Given the description of an element on the screen output the (x, y) to click on. 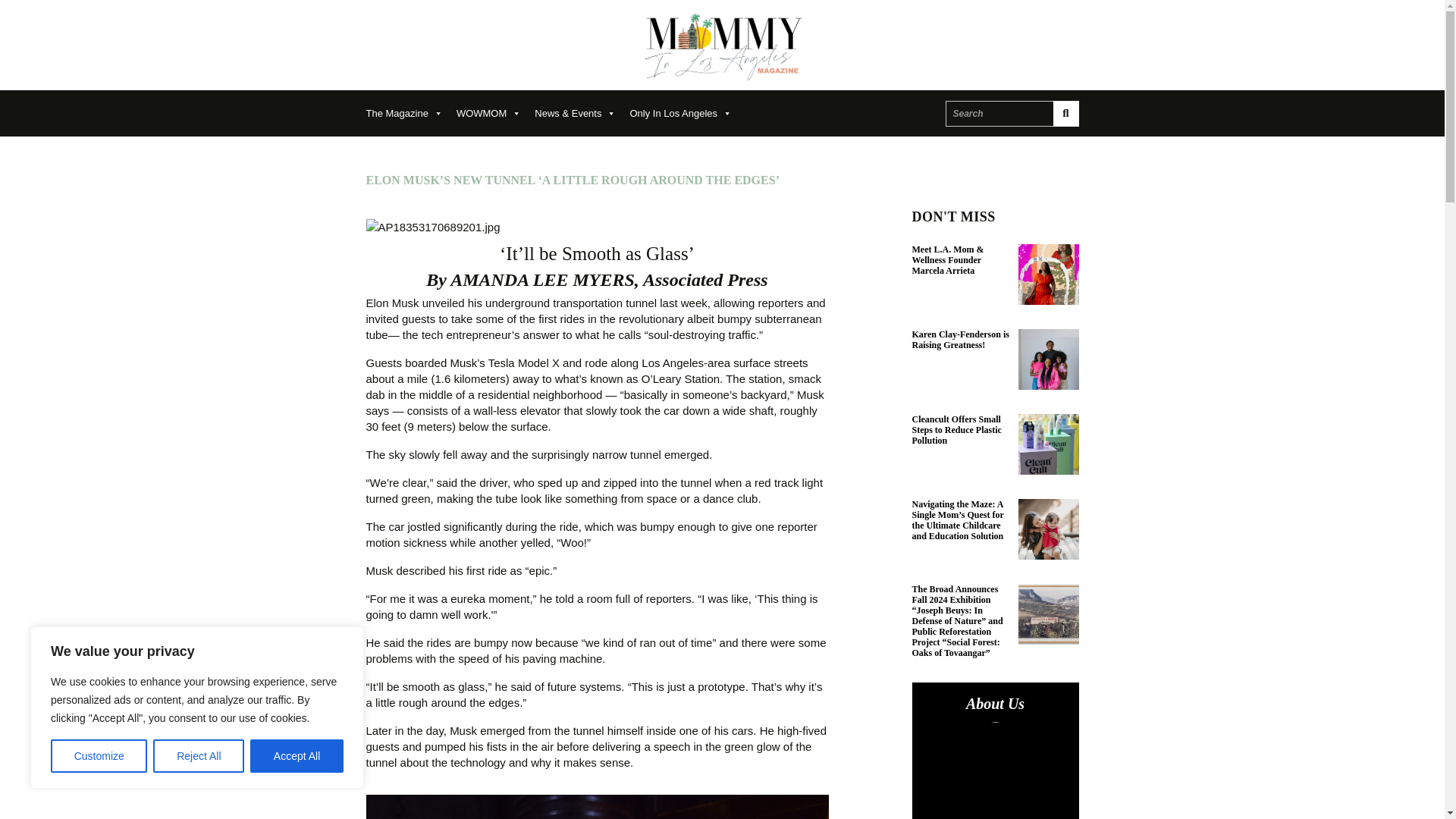
The Magazine (410, 113)
Only In Los Angeles (686, 113)
Reject All (198, 756)
Accept All (296, 756)
Customize (98, 756)
WOWMOM (495, 113)
